Given the description of an element on the screen output the (x, y) to click on. 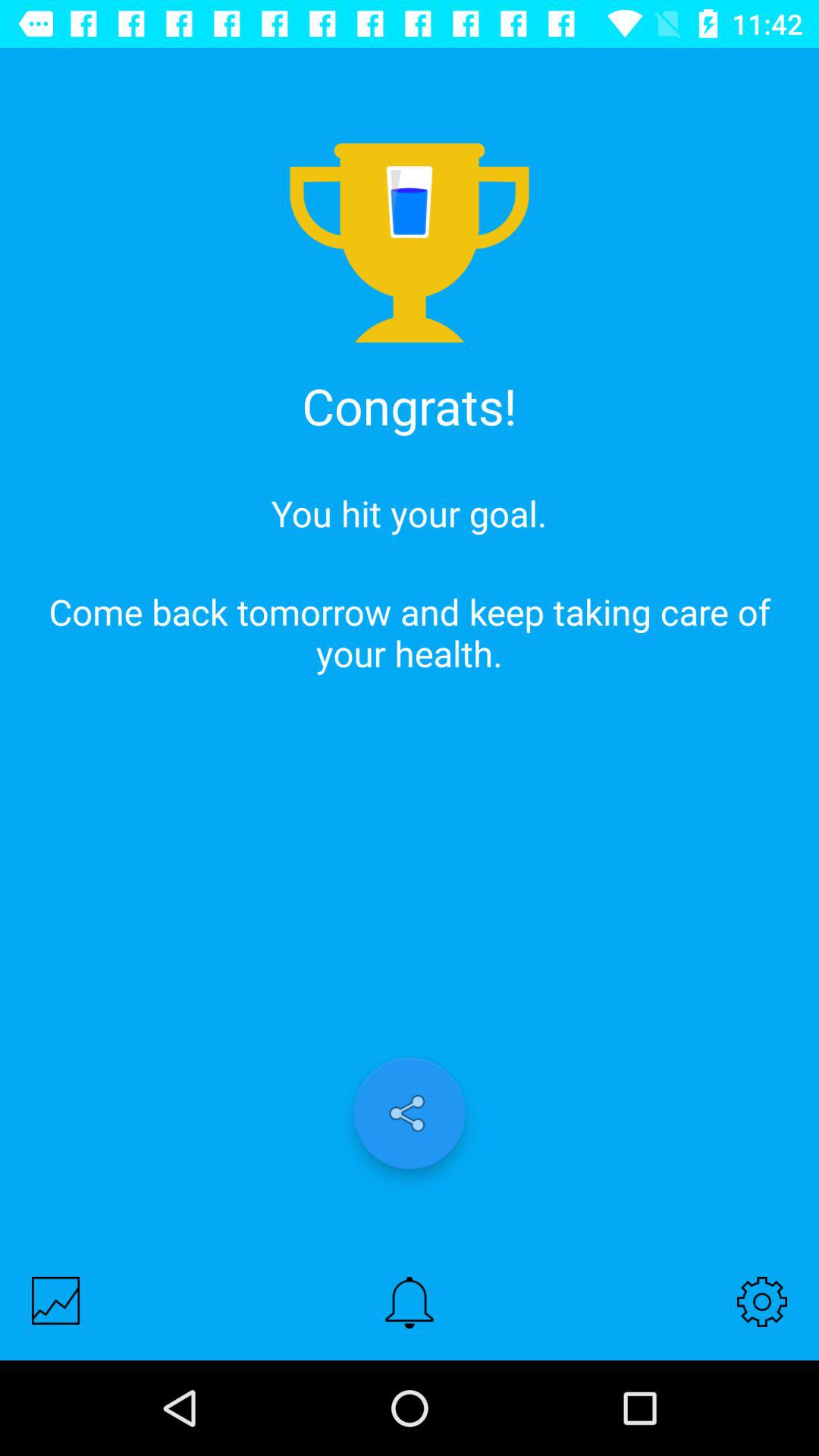
set notification (409, 1302)
